Given the description of an element on the screen output the (x, y) to click on. 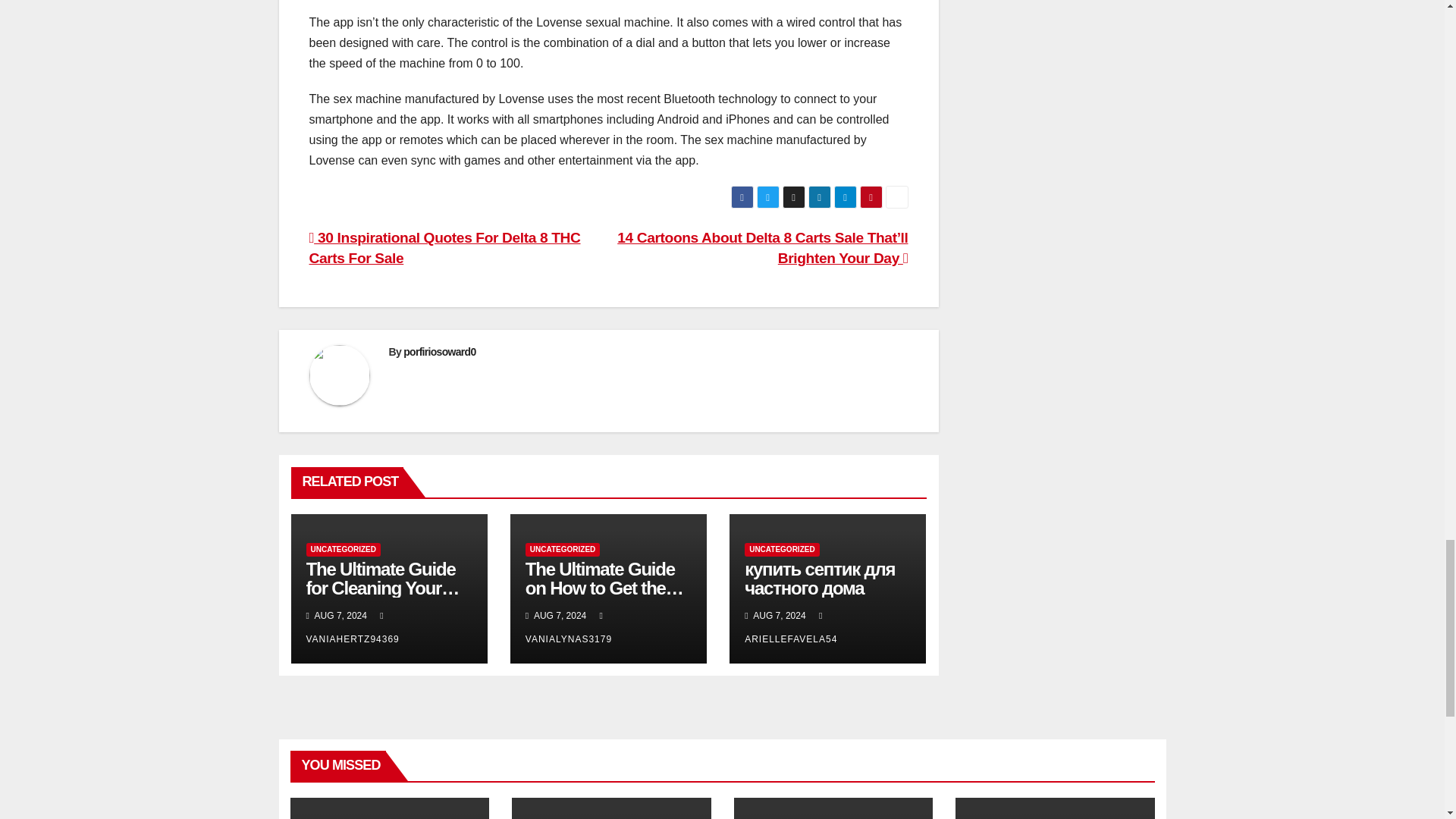
VANIAHERTZ94369 (351, 627)
VANIALYNAS3179 (568, 627)
UNCATEGORIZED (342, 549)
porfiriosoward0 (439, 351)
UNCATEGORIZED (562, 549)
30 Inspirational Quotes For Delta 8 THC Carts For Sale (444, 248)
